Given the description of an element on the screen output the (x, y) to click on. 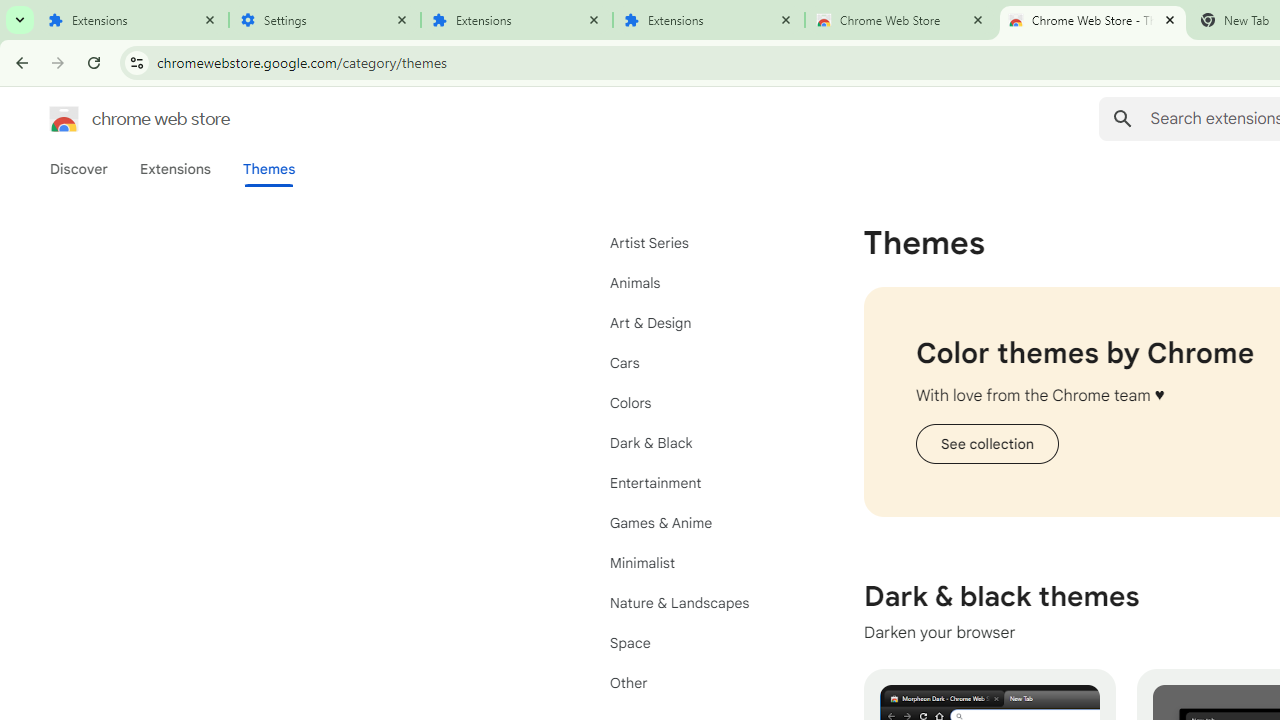
Space (700, 642)
Colors (700, 403)
